Given the description of an element on the screen output the (x, y) to click on. 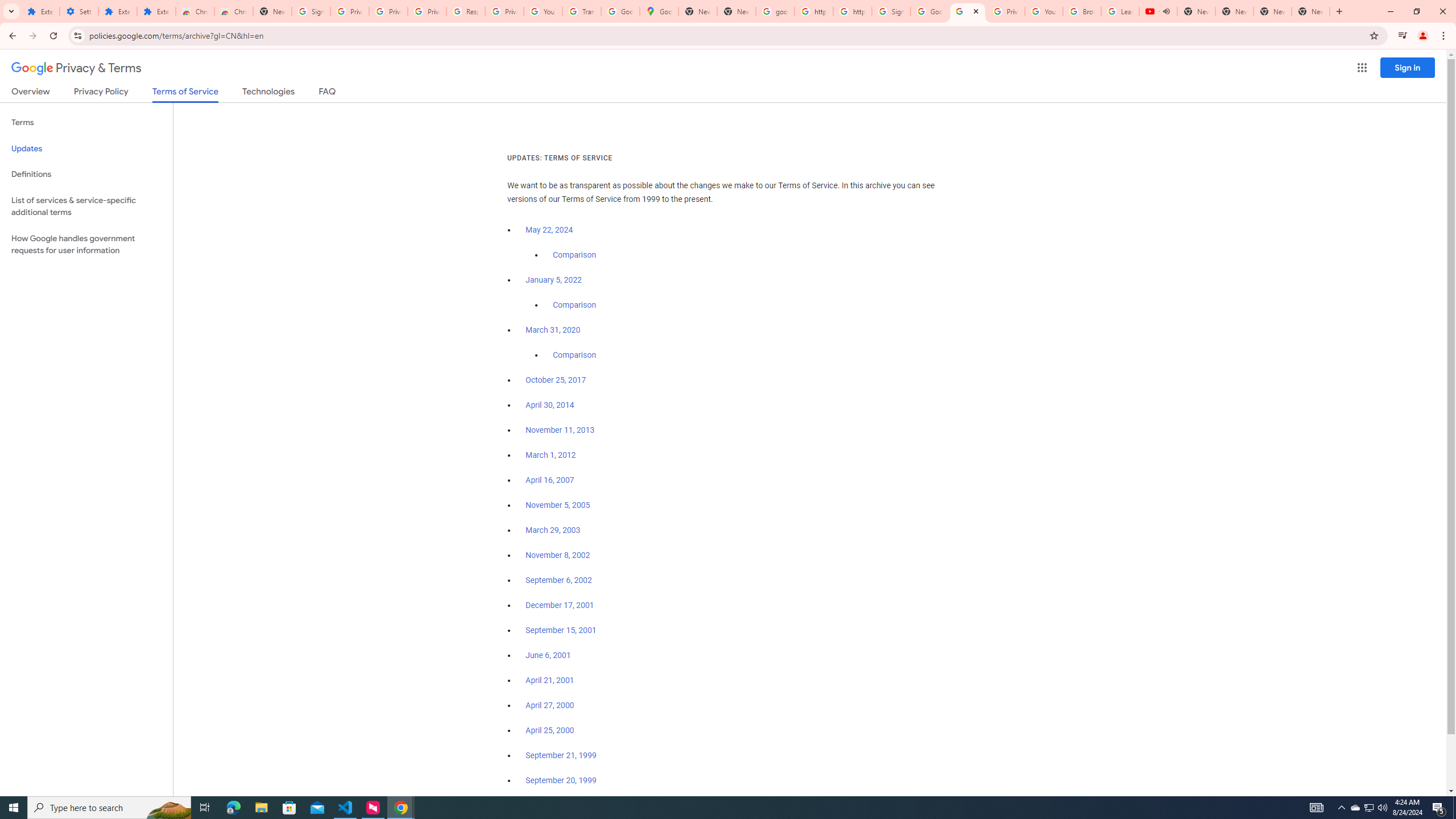
Extensions (156, 11)
April 27, 2000 (550, 705)
September 21, 1999 (560, 755)
https://scholar.google.com/ (813, 11)
Control your music, videos, and more (1402, 35)
September 6, 2002 (558, 579)
Google Maps (659, 11)
Mute tab (1165, 10)
How Google handles government requests for user information (86, 244)
